Given the description of an element on the screen output the (x, y) to click on. 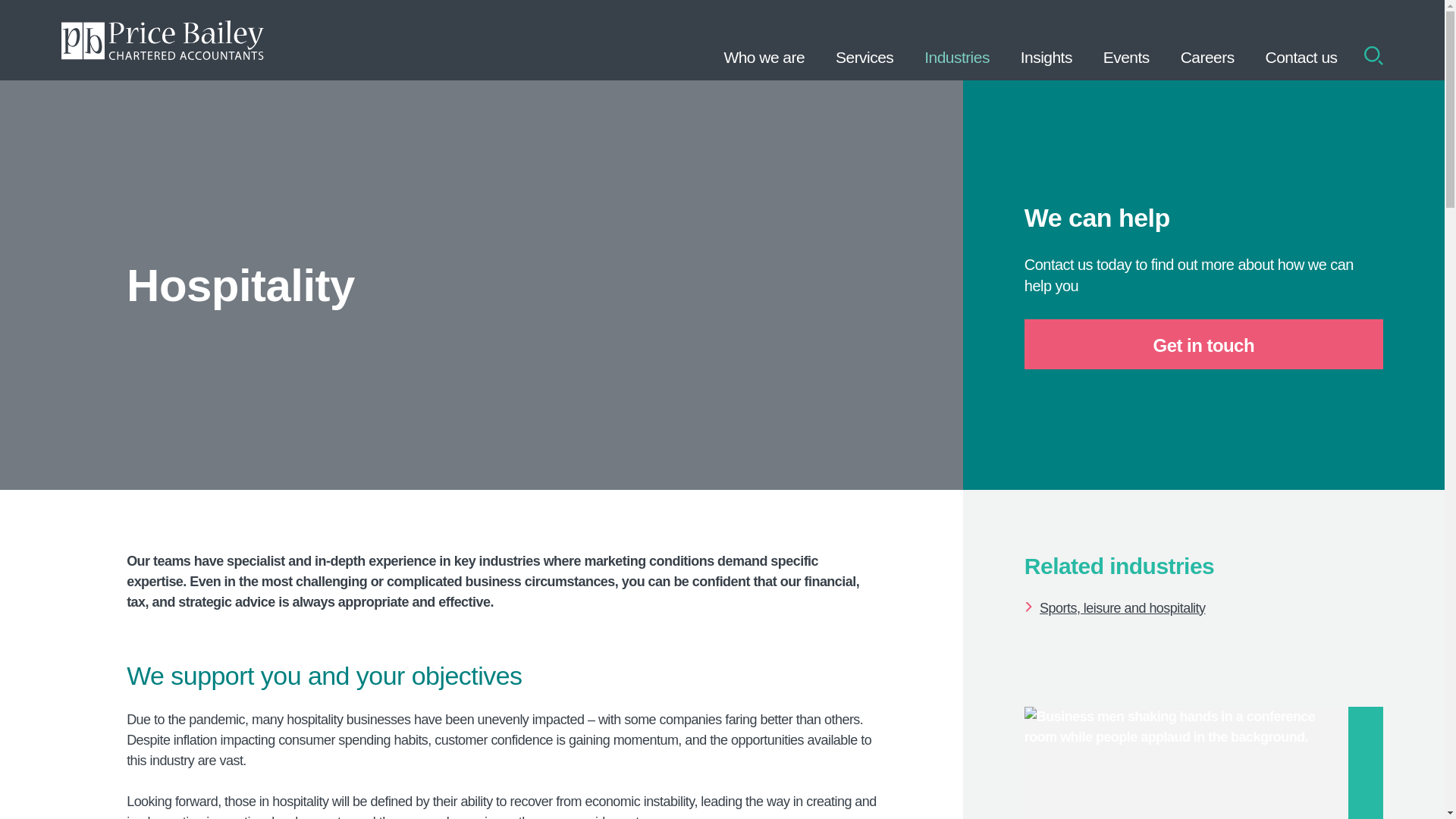
Contact us (1300, 40)
Insights (1045, 40)
Careers (1206, 40)
Services (864, 40)
Events (1125, 40)
Who we are (764, 40)
Industries (957, 40)
